Given the description of an element on the screen output the (x, y) to click on. 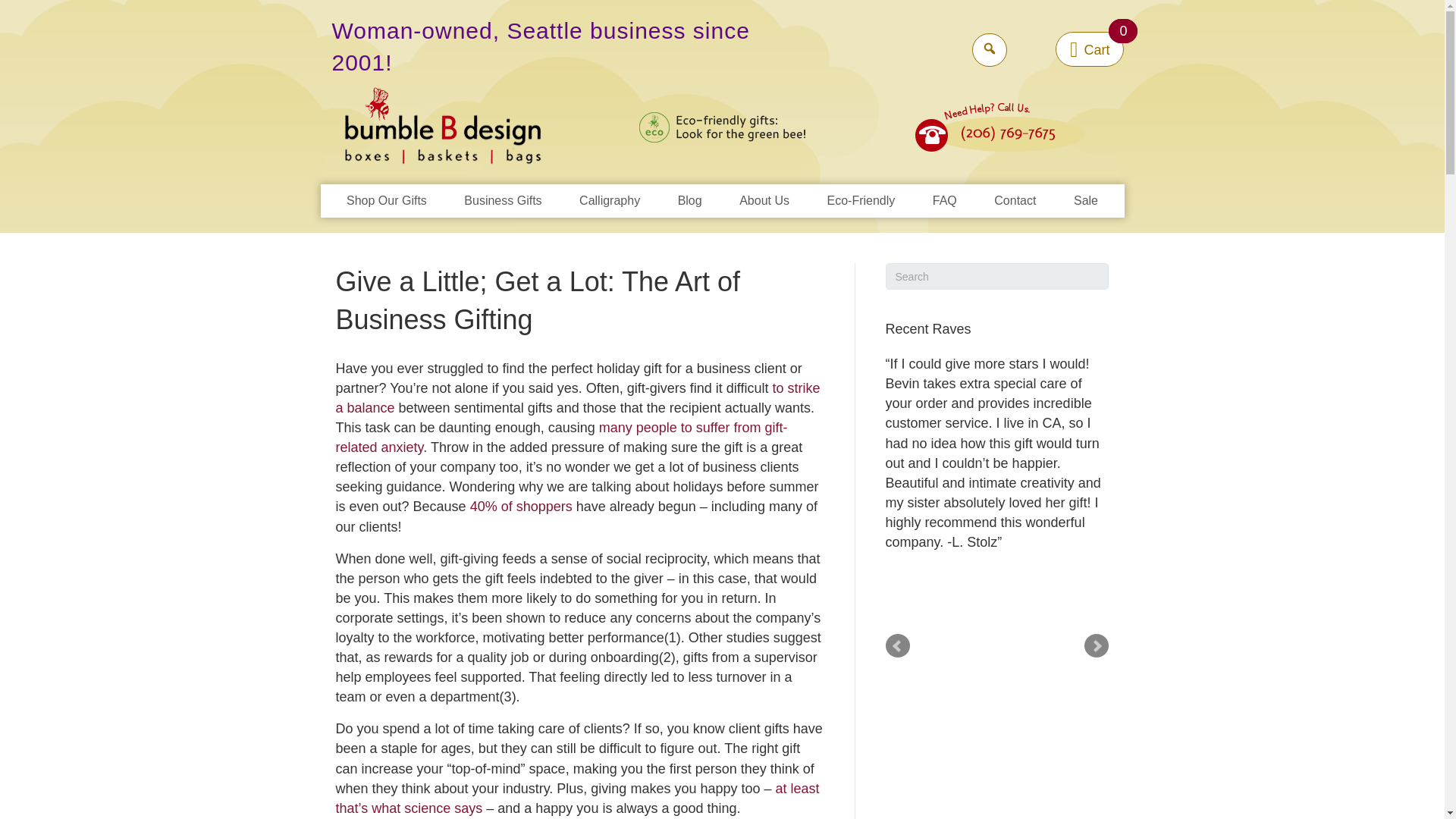
many people to suffer from gift-related anxiety (560, 437)
View your shopping cart (1089, 48)
Shop Our Gifts (387, 200)
About Us (764, 200)
to strike a balance (576, 397)
Calligraphy (609, 200)
Business Gifts (501, 200)
Contact (1015, 200)
Sale (1085, 200)
Blog (689, 200)
